Given the description of an element on the screen output the (x, y) to click on. 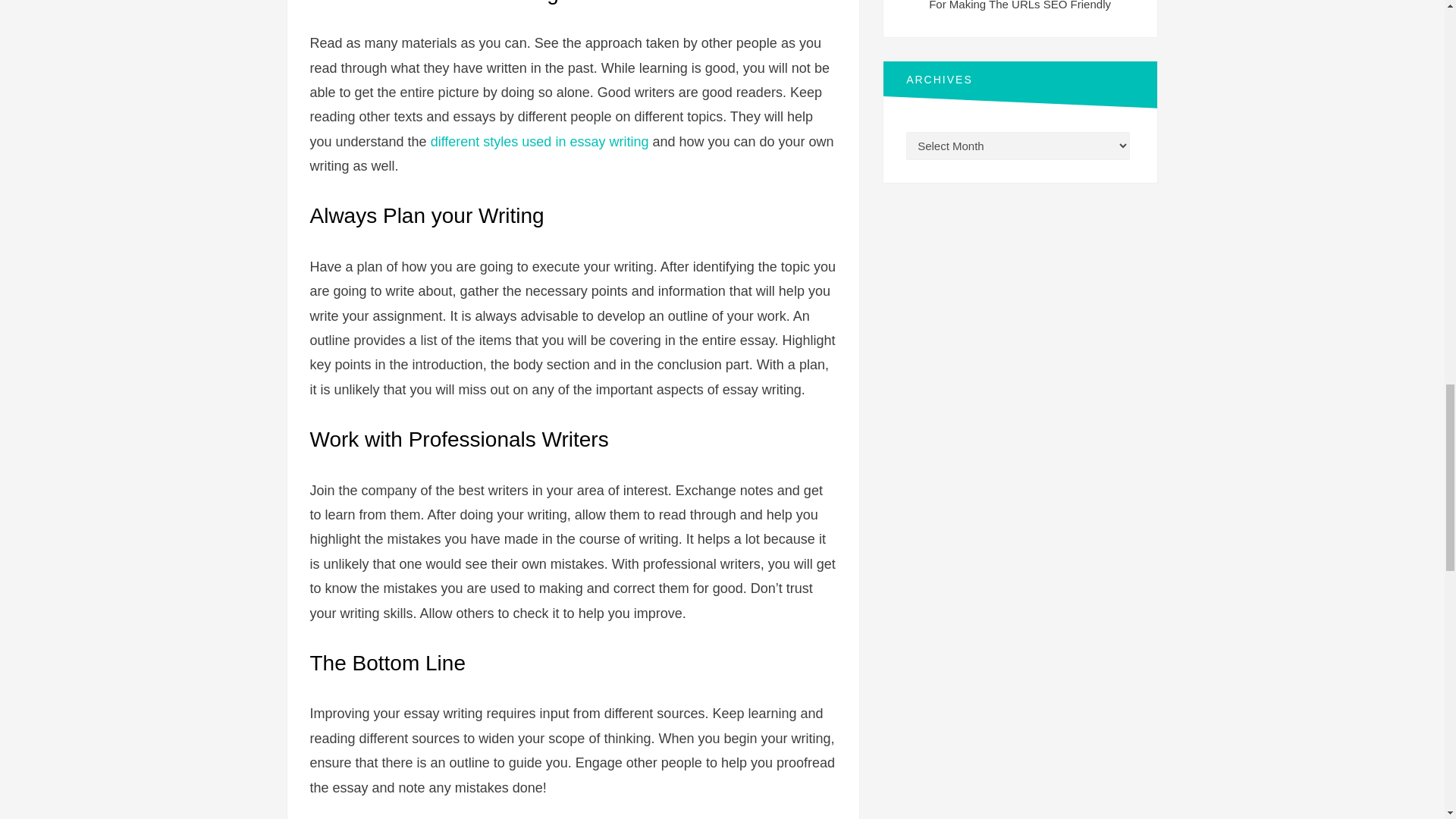
different styles used in essay (520, 141)
writing (627, 141)
